Given the description of an element on the screen output the (x, y) to click on. 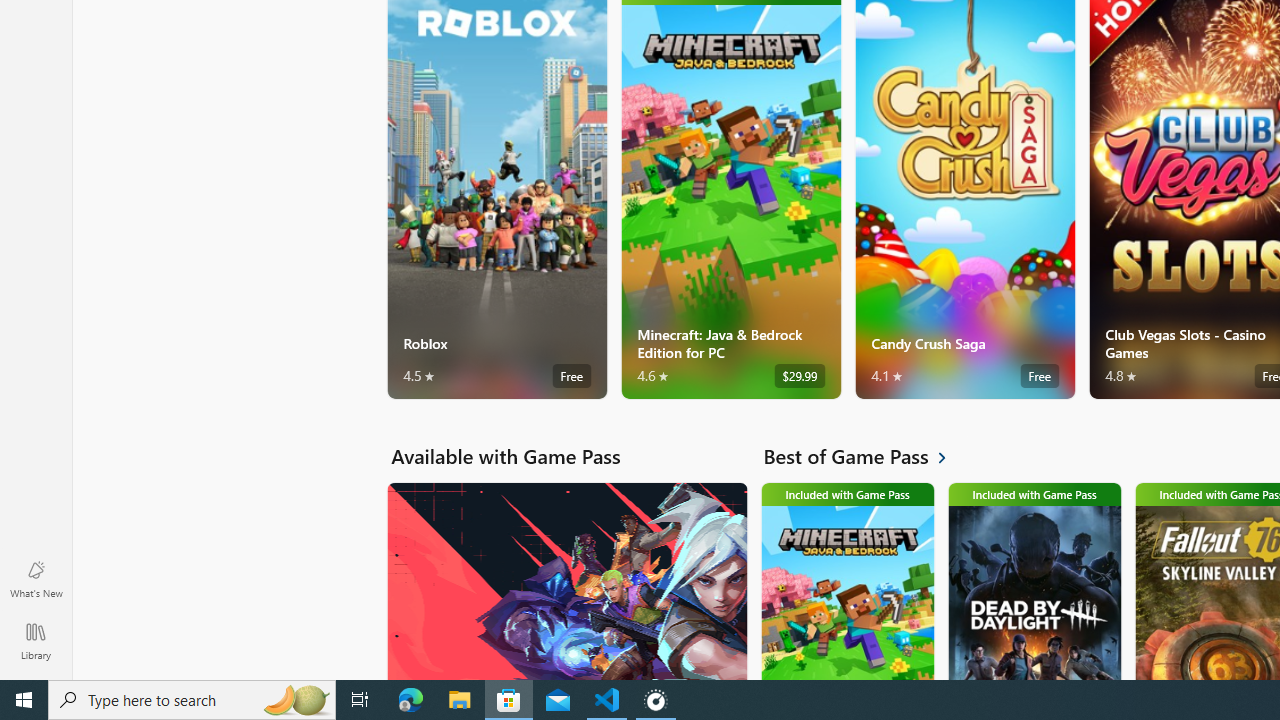
Available with Game Pass. VALORANT (566, 580)
See all  Best of Game Pass (866, 455)
